Given the description of an element on the screen output the (x, y) to click on. 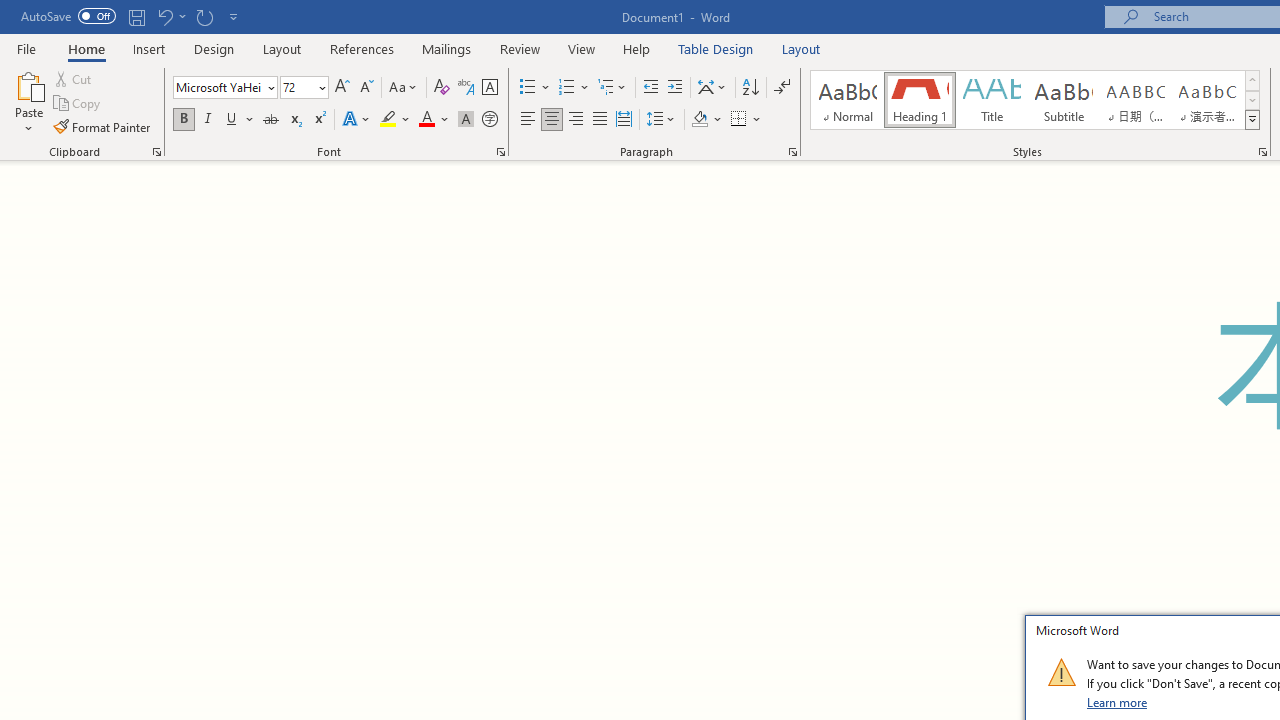
Undo Grow Font (164, 15)
